Given the description of an element on the screen output the (x, y) to click on. 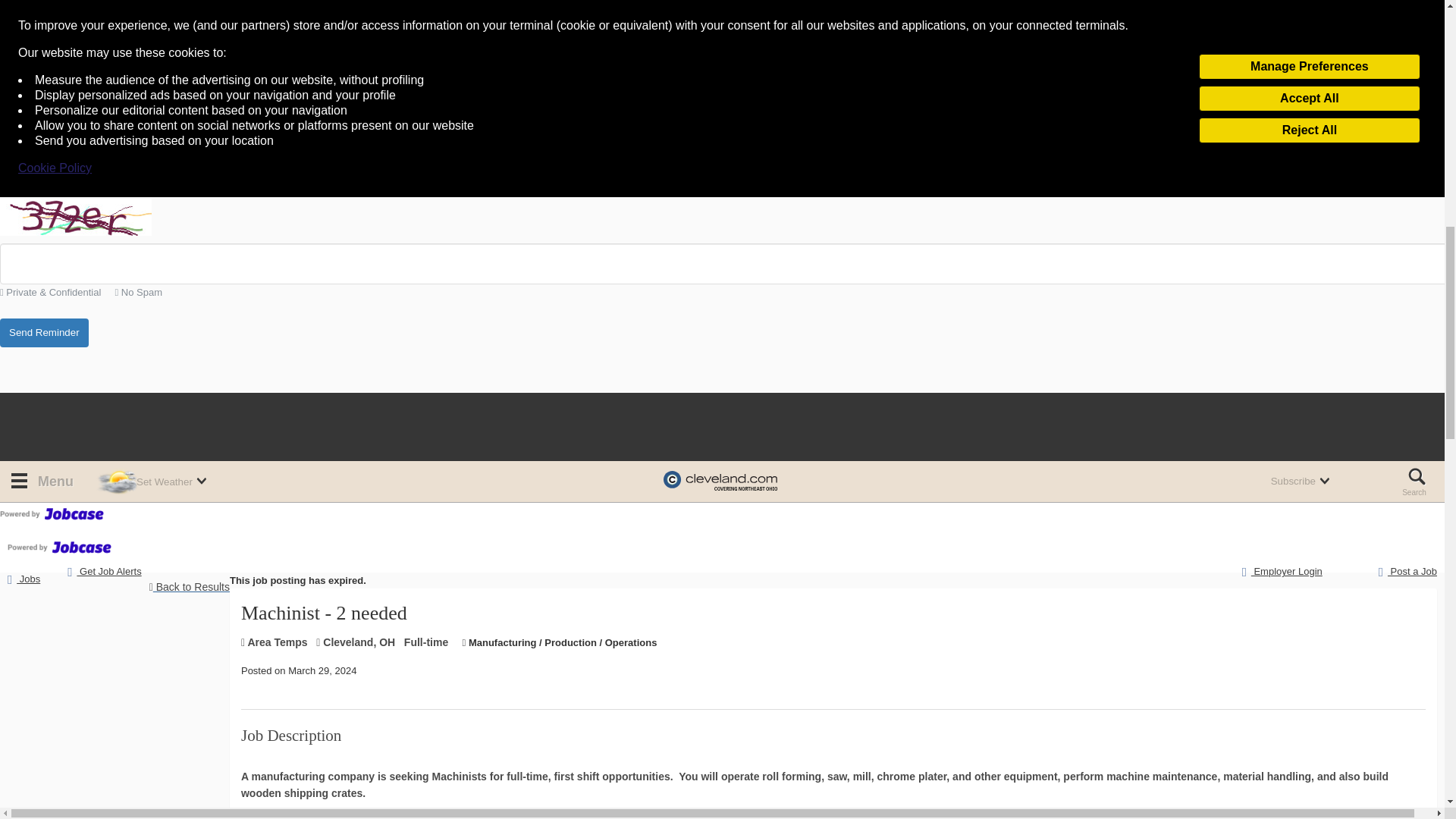
Cleveland.com (720, 481)
Send Reminder (44, 333)
captcha (75, 216)
Cleveland.com (720, 481)
Menu (40, 481)
